Given the description of an element on the screen output the (x, y) to click on. 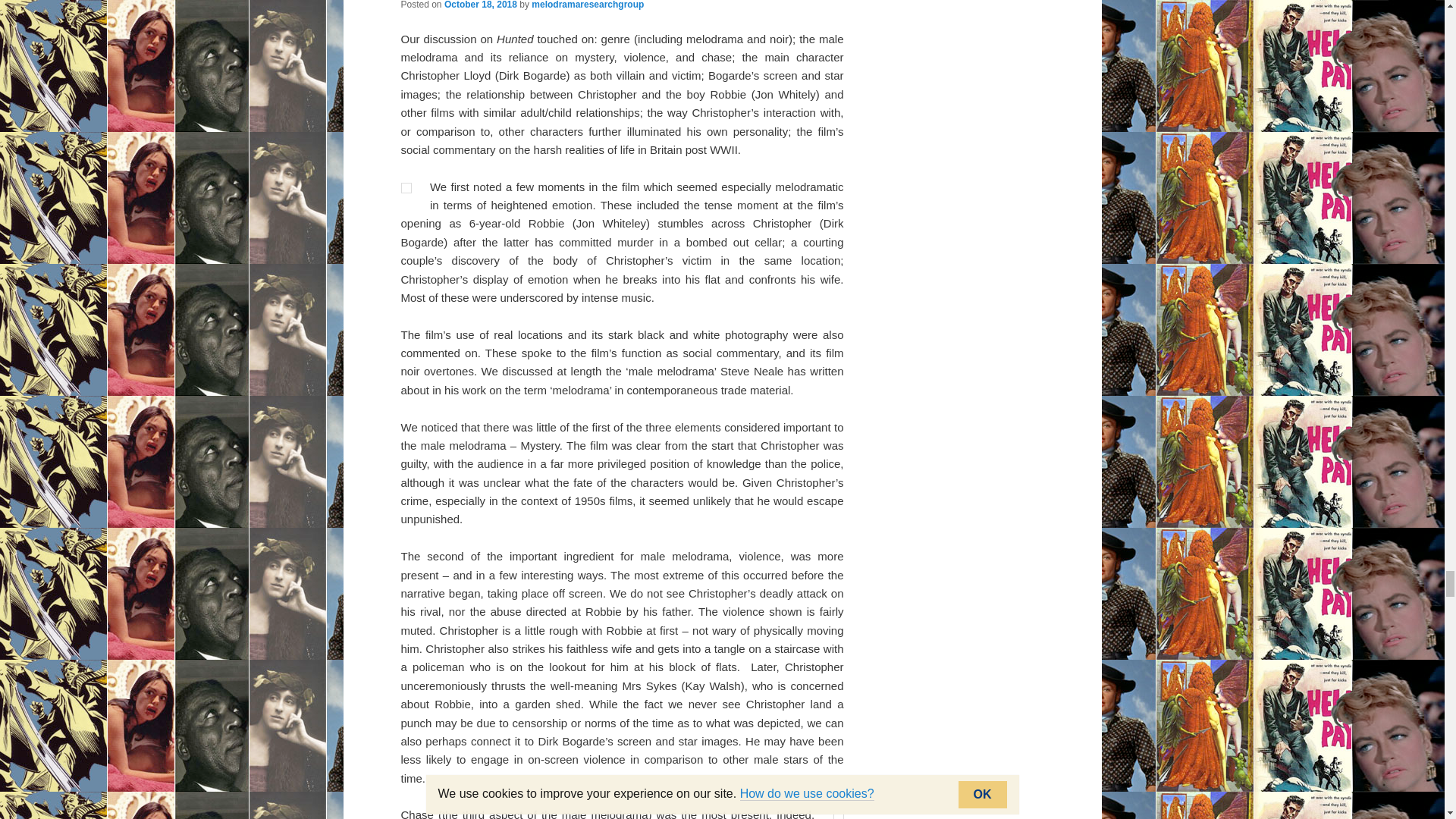
7:53 am (480, 4)
View all posts by melodramaresearchgroup (587, 4)
